Given the description of an element on the screen output the (x, y) to click on. 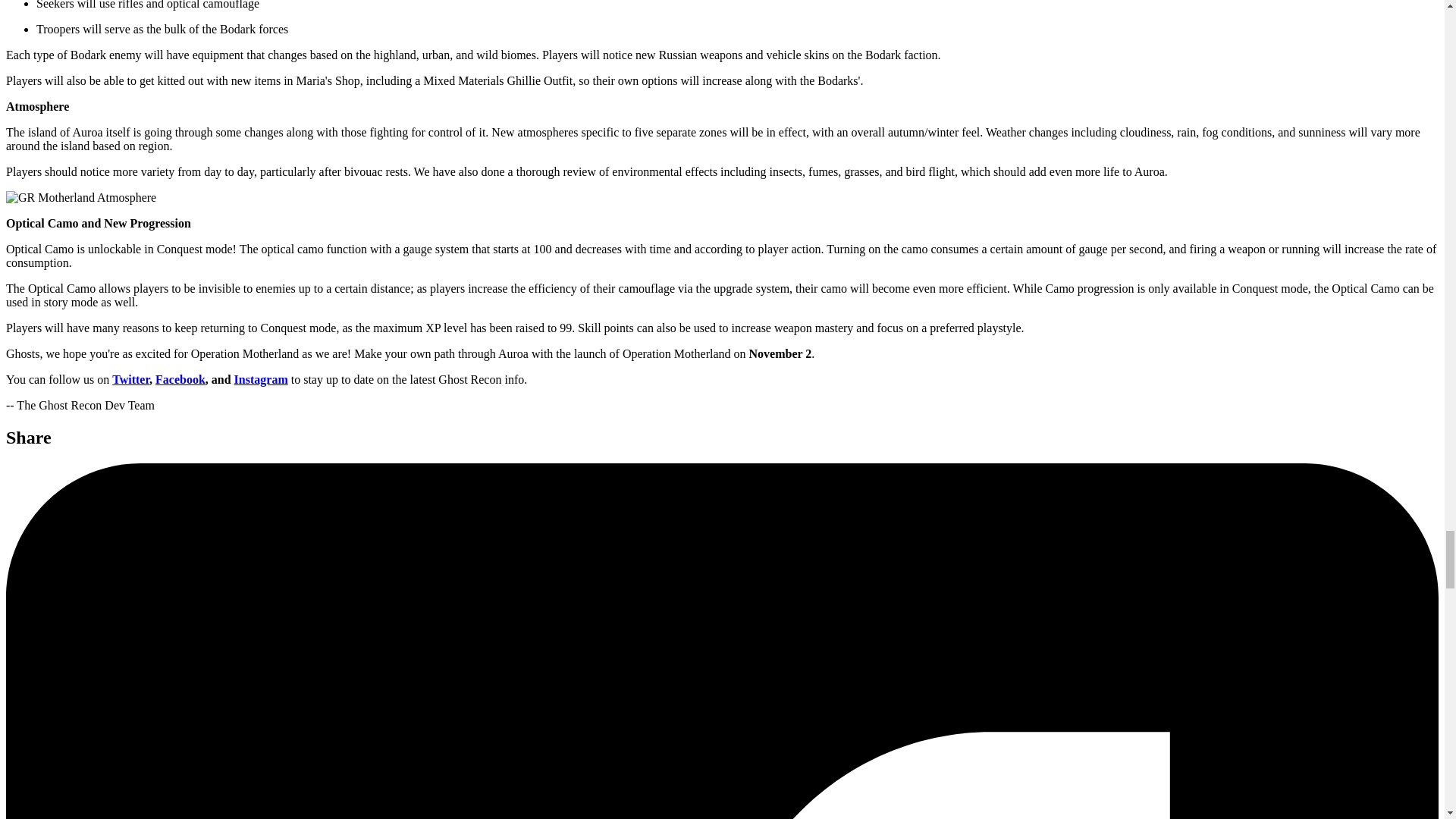
Facebook (180, 379)
Twitter (130, 379)
Instagram (261, 379)
